Given the description of an element on the screen output the (x, y) to click on. 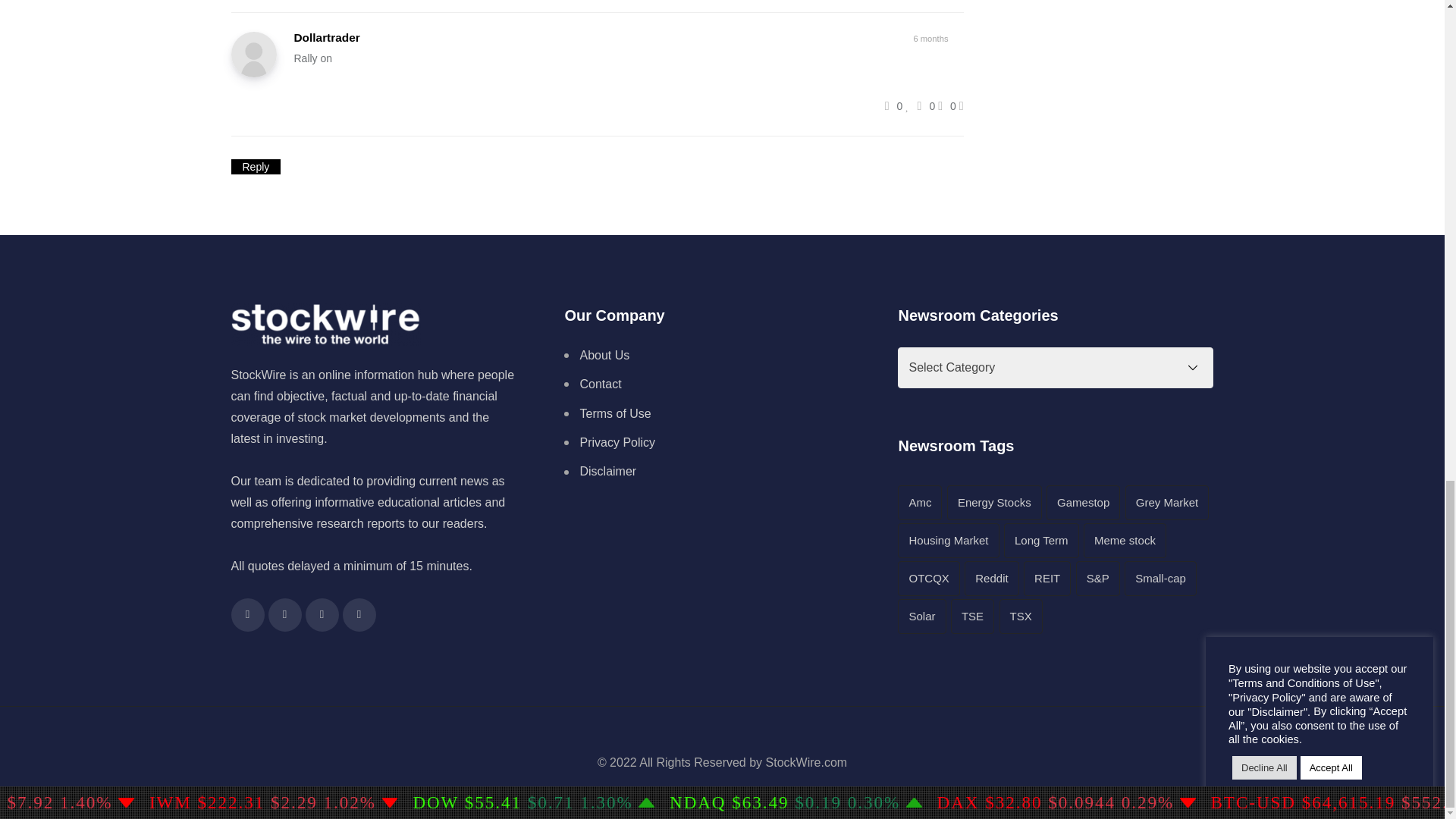
Dollartrader (326, 37)
Reply (255, 166)
